Given the description of an element on the screen output the (x, y) to click on. 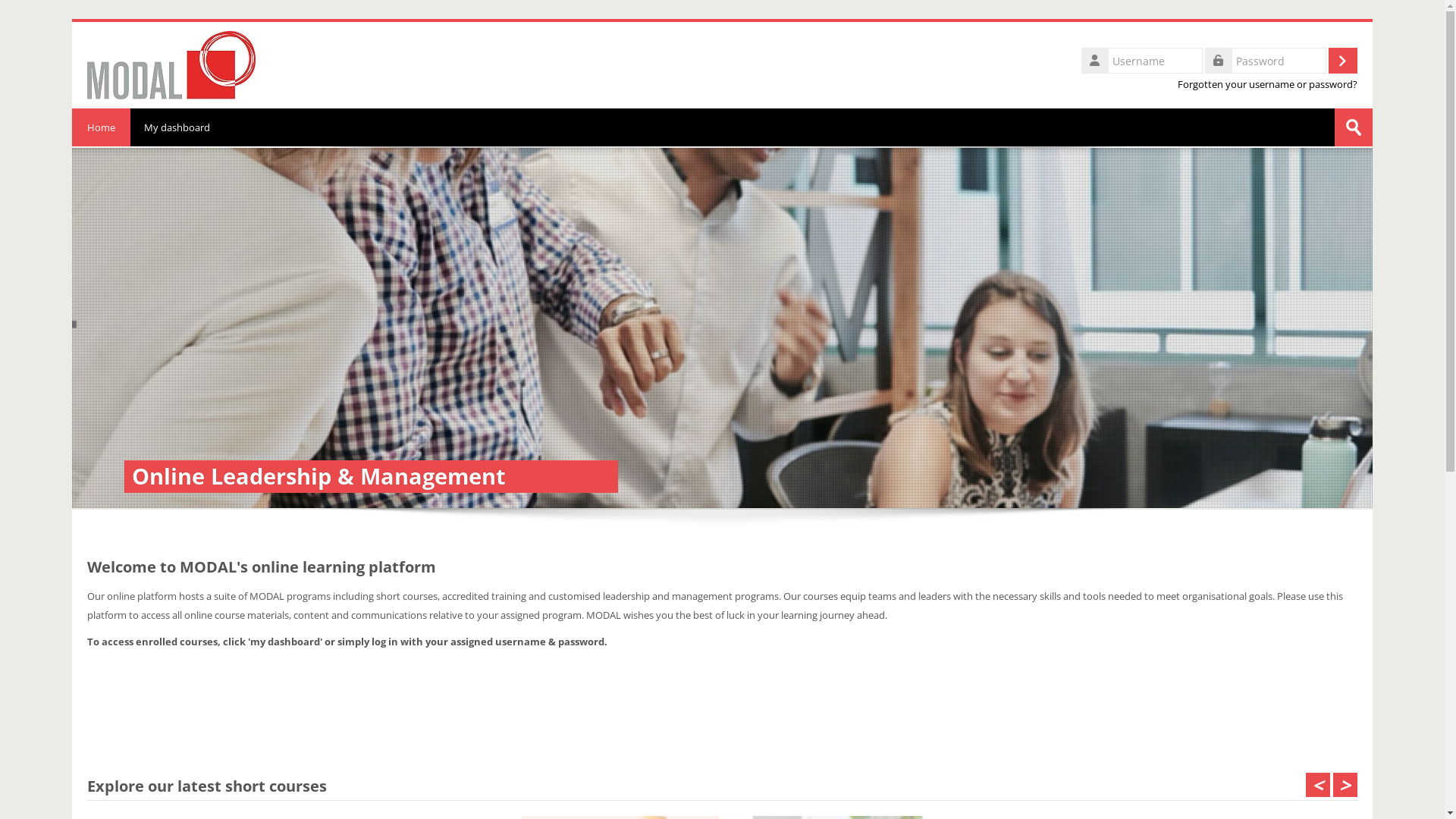
> Element type: text (1345, 784)
Home Element type: text (101, 127)
Log in Element type: text (1342, 60)
Submit Element type: text (1353, 127)
My dashboard Element type: text (176, 127)
Home Element type: hover (171, 63)
Forgotten your username or password? Element type: text (1267, 84)
< Element type: text (1317, 784)
